Given the description of an element on the screen output the (x, y) to click on. 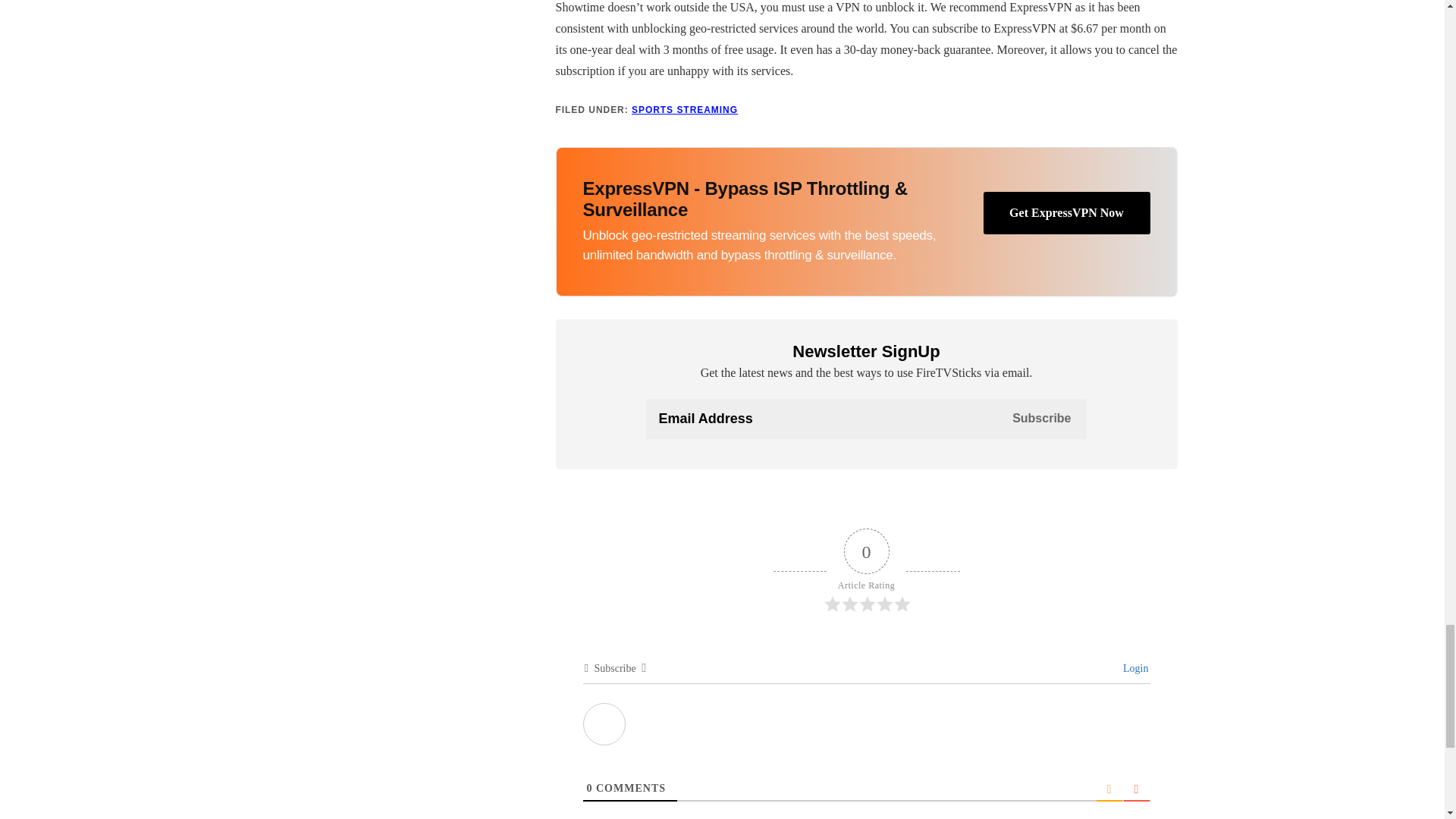
Get ExpressVPN Now (1066, 212)
